Given the description of an element on the screen output the (x, y) to click on. 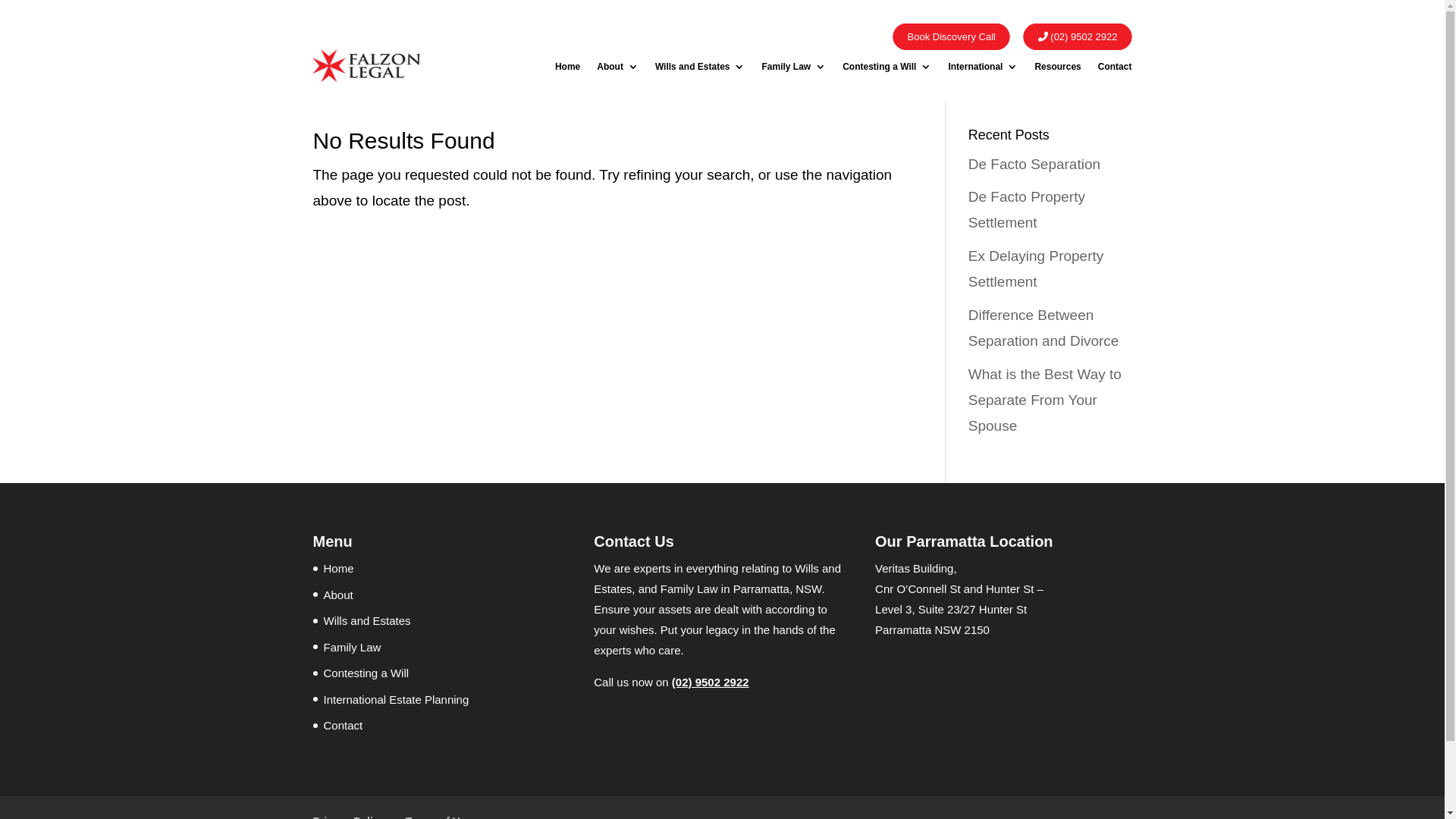
(02) 9502 2922 Element type: text (1077, 36)
What is the Best Way to Separate From Your Spouse Element type: text (1044, 399)
Contact Element type: text (342, 724)
About Element type: text (617, 69)
Family Law Element type: text (793, 69)
Difference Between Separation and Divorce Element type: text (1043, 327)
Home Element type: text (338, 567)
Wills and Estates Element type: text (700, 69)
(02) 9502 2922 Element type: text (710, 681)
Home Element type: text (567, 69)
Book Discovery Call Element type: text (951, 36)
About Element type: text (337, 594)
Contesting a Will Element type: text (886, 69)
Contact Element type: text (1115, 69)
International Element type: text (982, 69)
Contesting a Will Element type: text (365, 672)
De Facto Property Settlement Element type: text (1026, 209)
Resources Element type: text (1057, 69)
International Estate Planning Element type: text (395, 699)
De Facto Separation Element type: text (1034, 164)
Family Law Element type: text (351, 646)
Falzon-Legal-Logo Element type: hover (366, 65)
Ex Delaying Property Settlement Element type: text (1035, 268)
Wills and Estates Element type: text (366, 620)
